Given the description of an element on the screen output the (x, y) to click on. 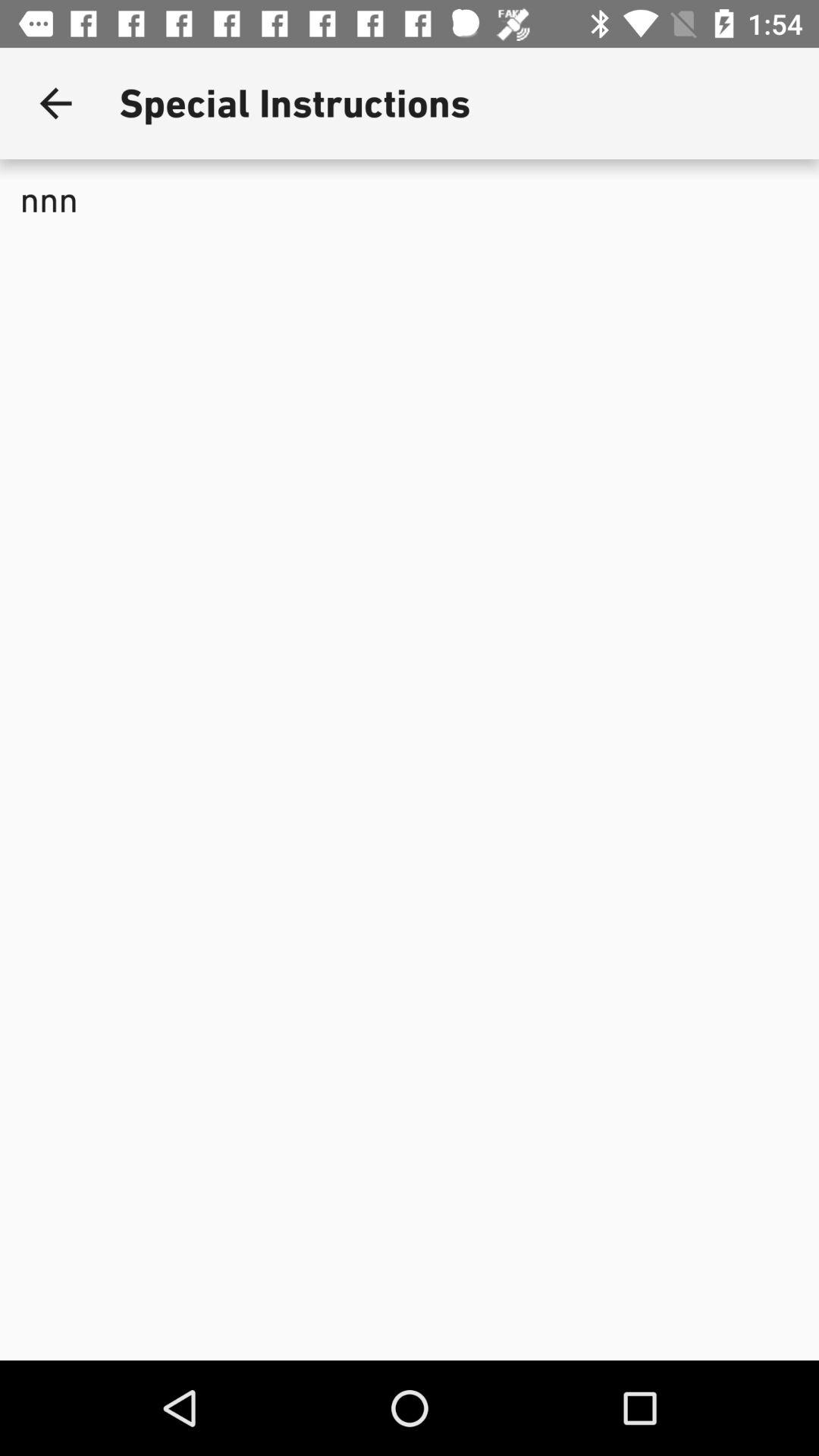
press icon at the top left corner (55, 103)
